Given the description of an element on the screen output the (x, y) to click on. 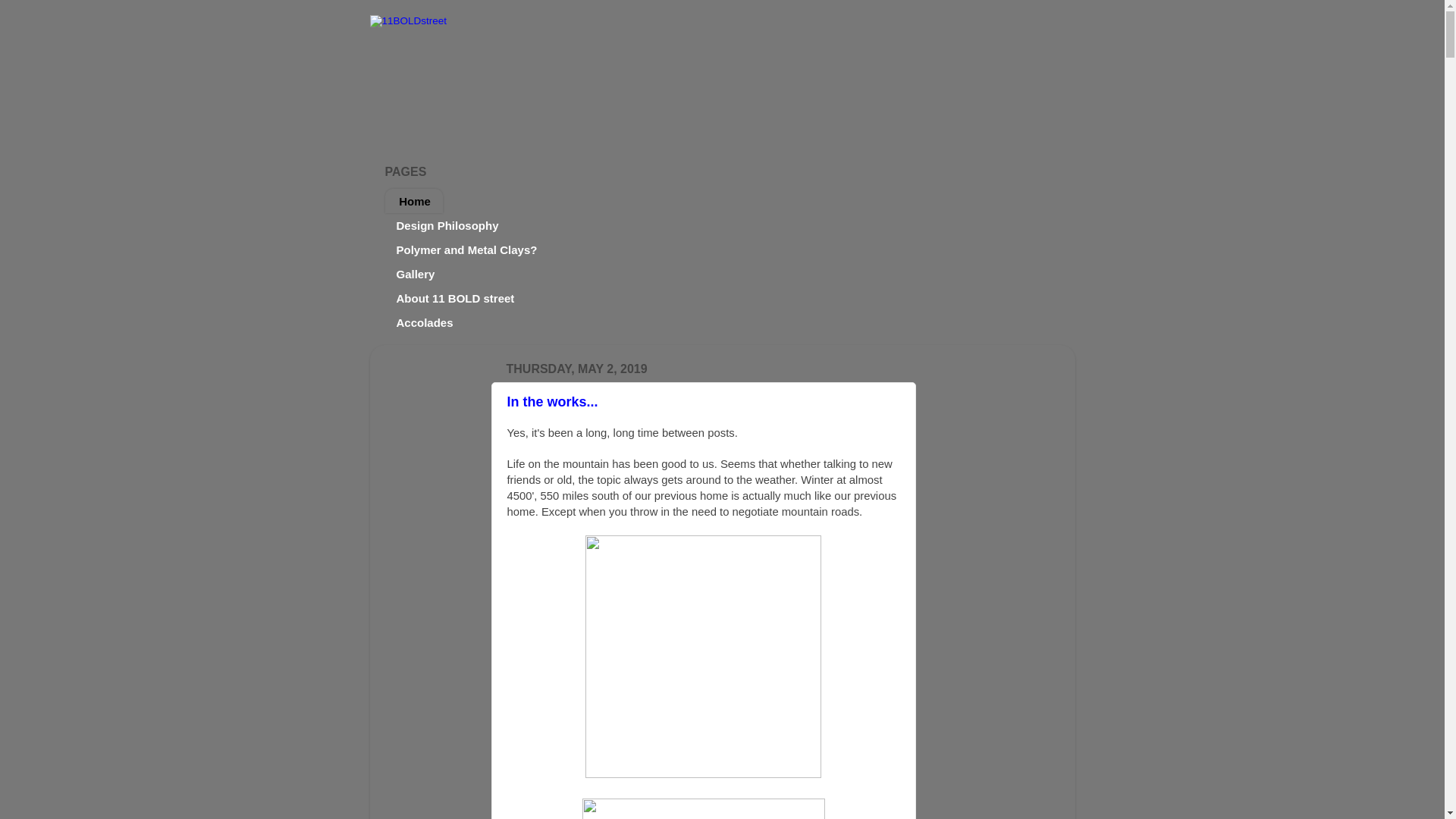
Polymer and Metal Clays? Element type: text (467, 249)
In the works... Element type: text (551, 401)
Gallery Element type: text (416, 273)
About 11 BOLD street Element type: text (456, 297)
Design Philosophy Element type: text (448, 225)
Accolades Element type: text (425, 322)
Home Element type: text (413, 200)
